Given the description of an element on the screen output the (x, y) to click on. 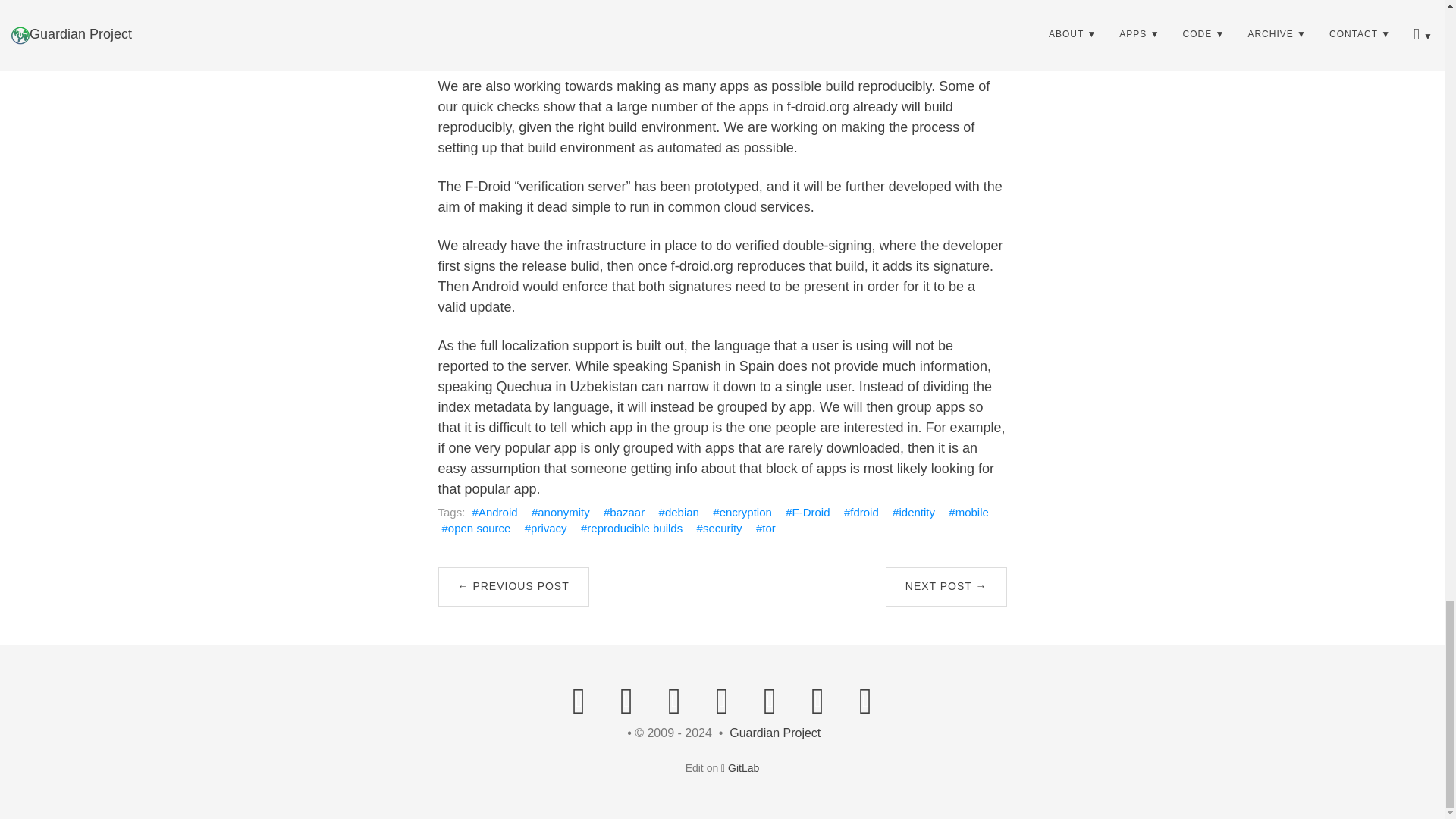
matrix (721, 700)
github (770, 700)
mastodon (626, 700)
twitter (674, 700)
liberapay (865, 700)
RSS (578, 700)
Data Usage and Protection Policies (513, 586)
gitlab (817, 700)
